Given the description of an element on the screen output the (x, y) to click on. 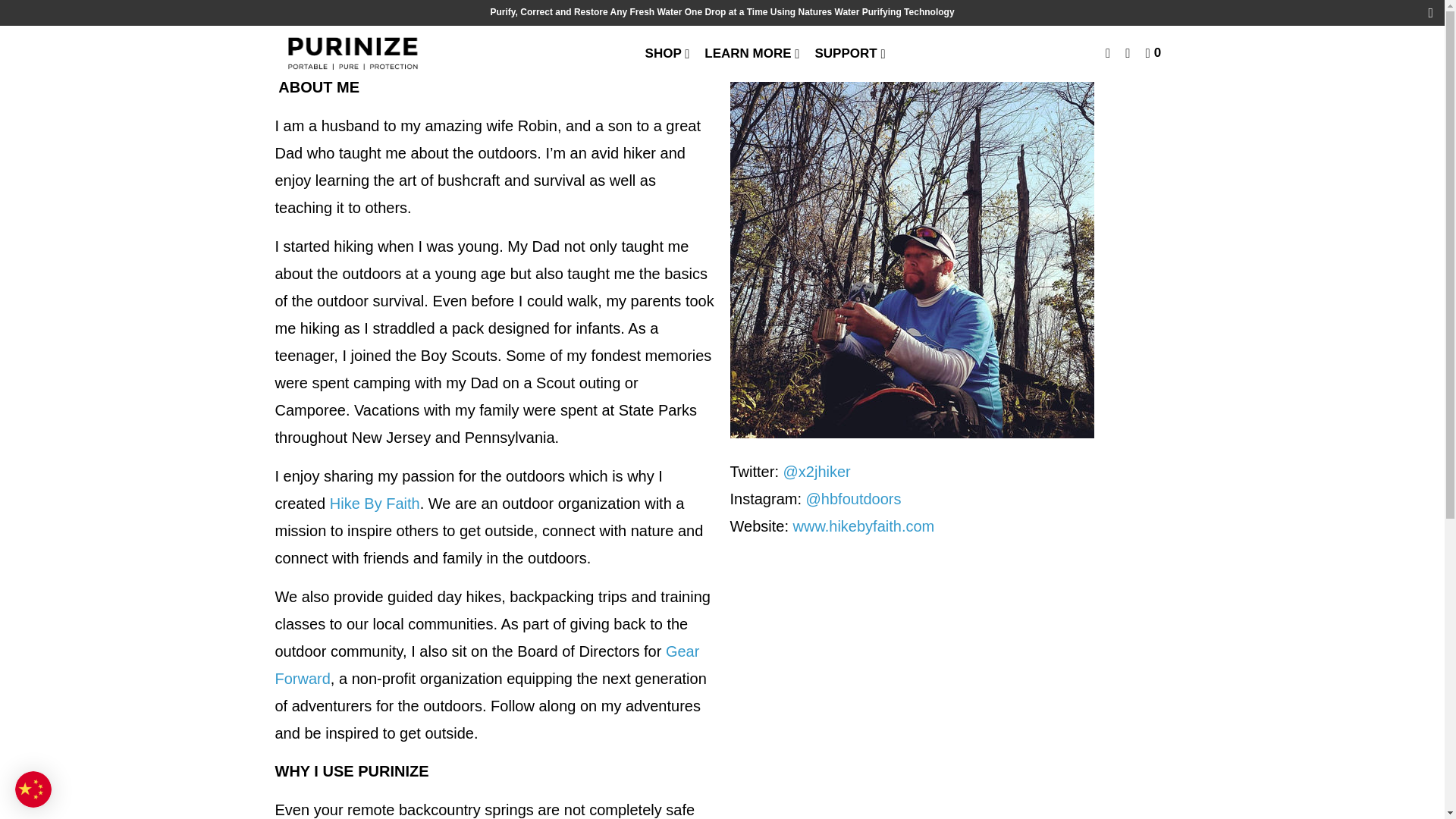
PURINIZE (352, 53)
Hike By Faith (375, 503)
SHOP (668, 53)
Gear Forward (486, 664)
